Given the description of an element on the screen output the (x, y) to click on. 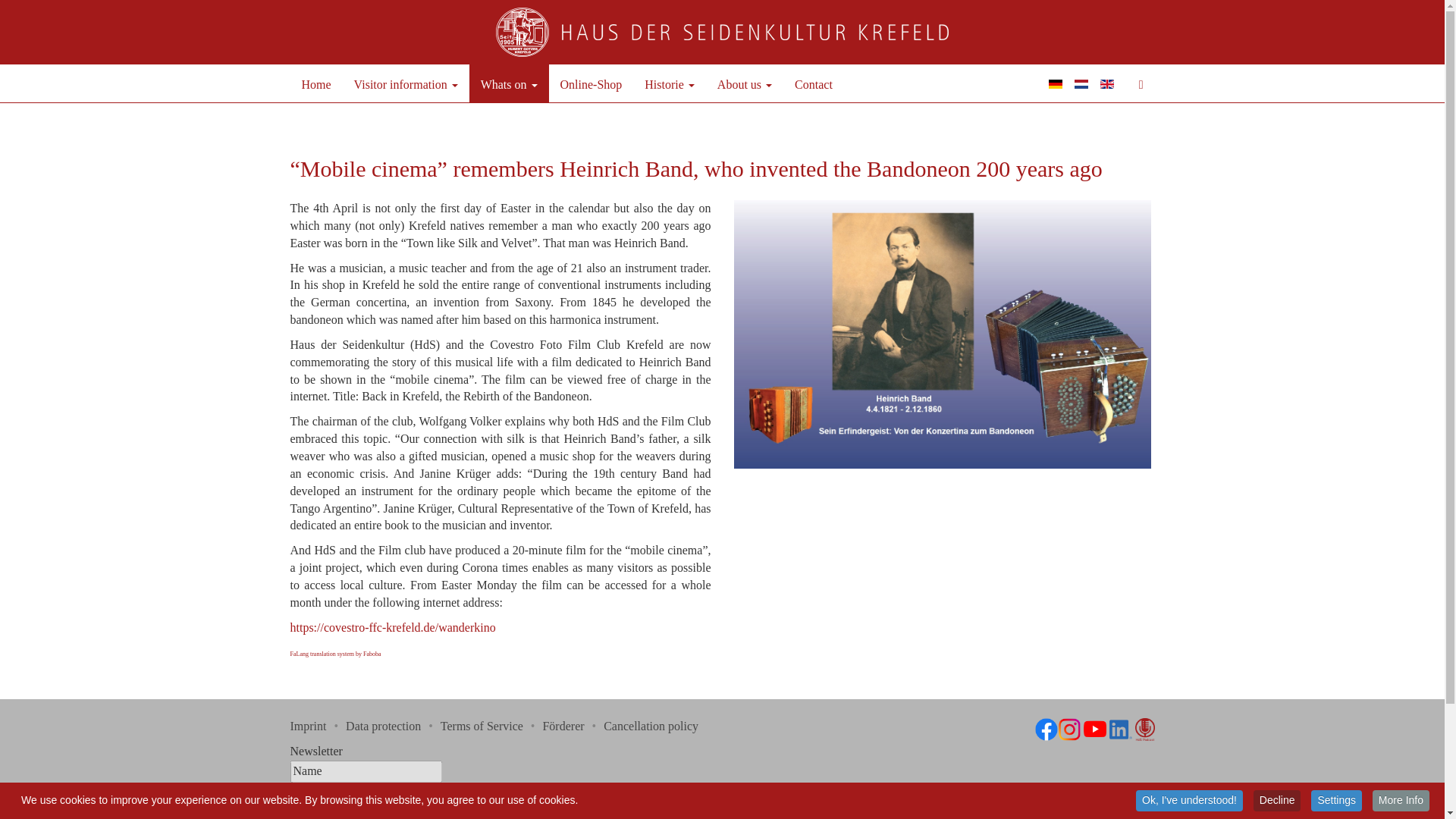
E-mail (365, 797)
Online-Shop (590, 83)
E-mail (365, 797)
About us (744, 83)
Whats on (508, 83)
FaLang translation system by Faboba (334, 653)
Name (365, 771)
Visitor information (405, 83)
Name (365, 771)
Contact (813, 83)
